Given the description of an element on the screen output the (x, y) to click on. 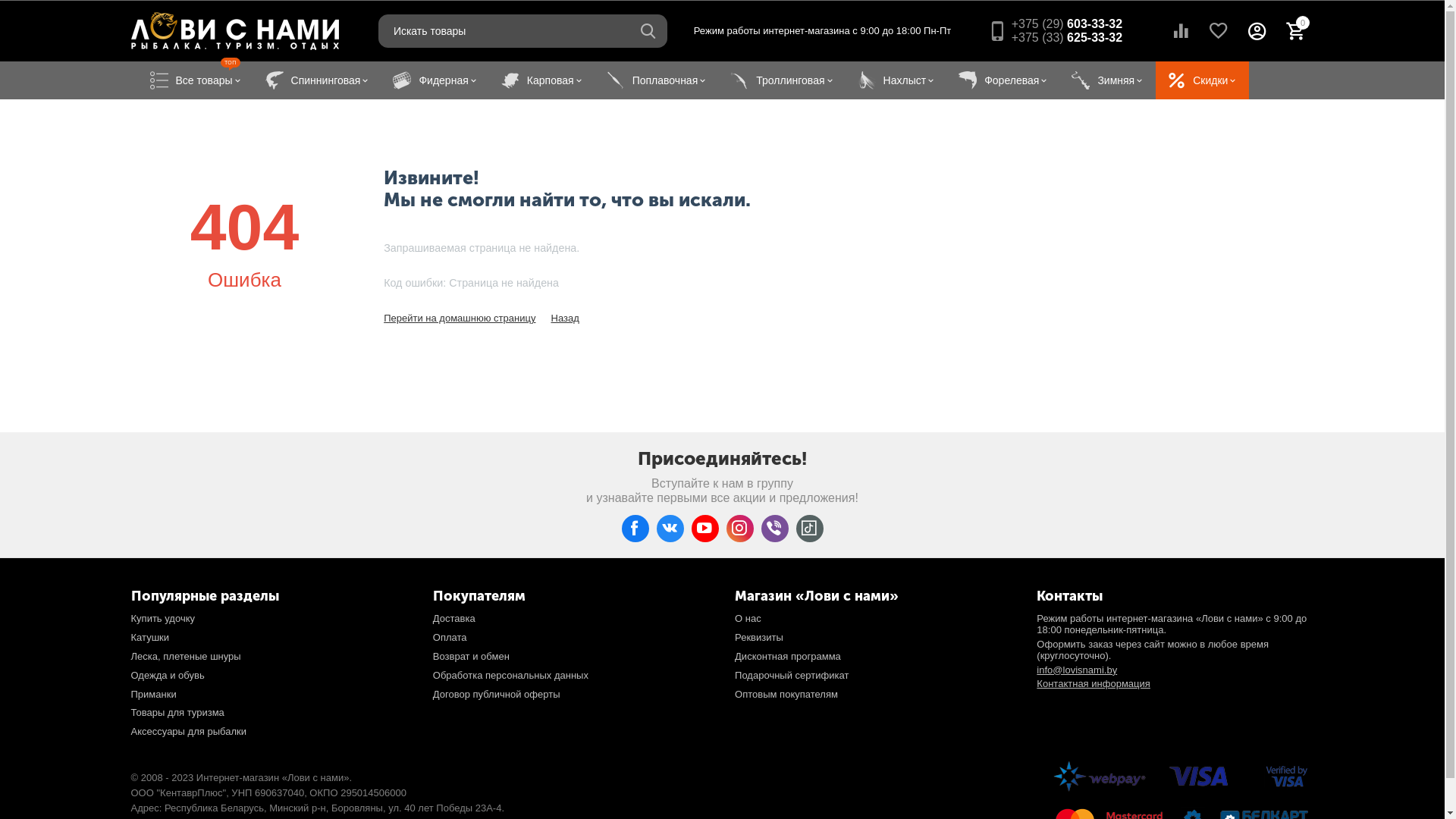
+375 (29) 603-33-32 Element type: text (1066, 24)
+375 (33) 625-33-32 Element type: text (1066, 37)
info@lovisnami.by Element type: text (1076, 669)
0 Element type: text (1294, 31)
